Given the description of an element on the screen output the (x, y) to click on. 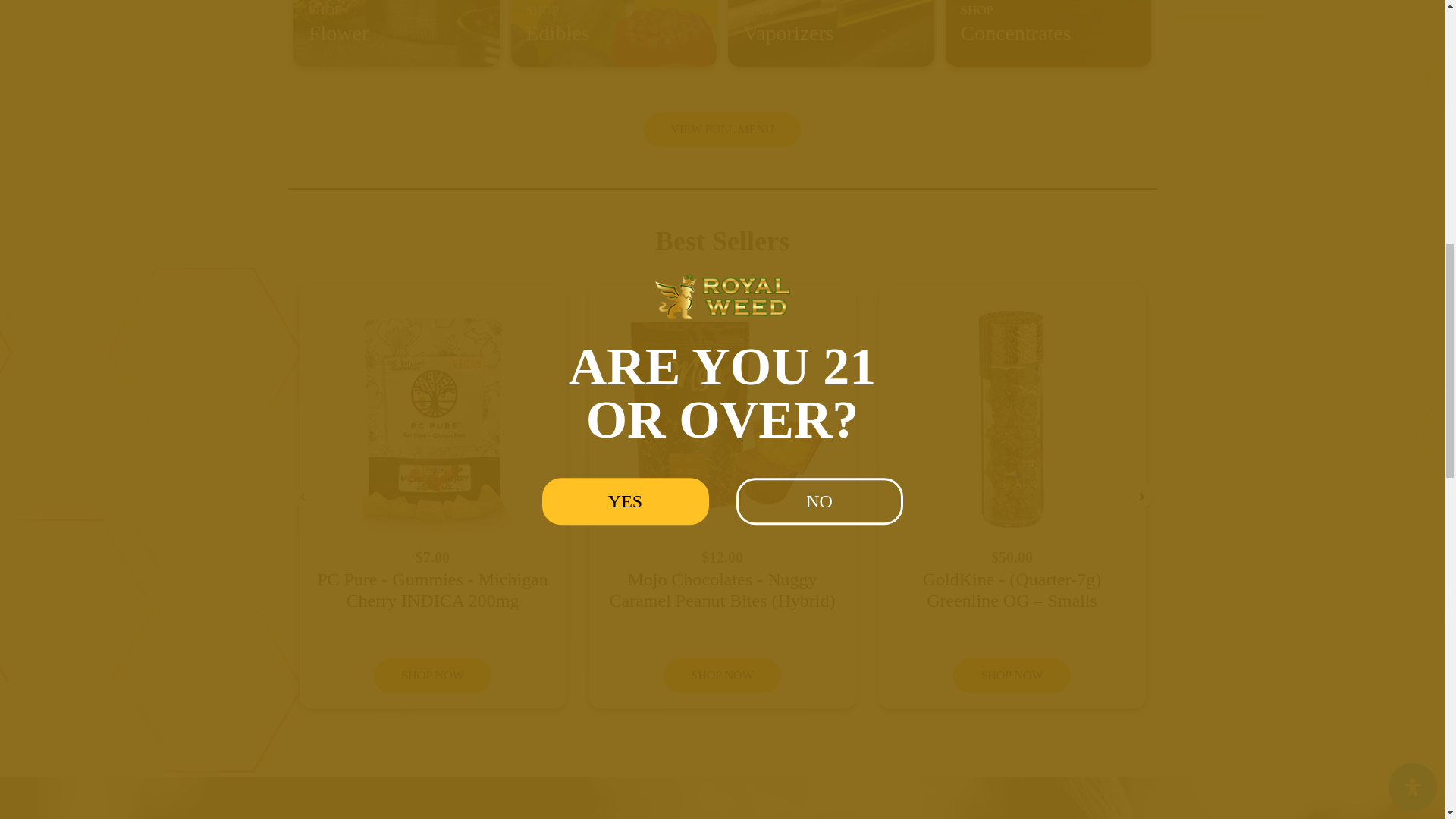
SHOP NOW (721, 675)
SHOP NOW (1011, 675)
SHOP NOW (433, 675)
VIEW FULL MENU (721, 129)
